Given the description of an element on the screen output the (x, y) to click on. 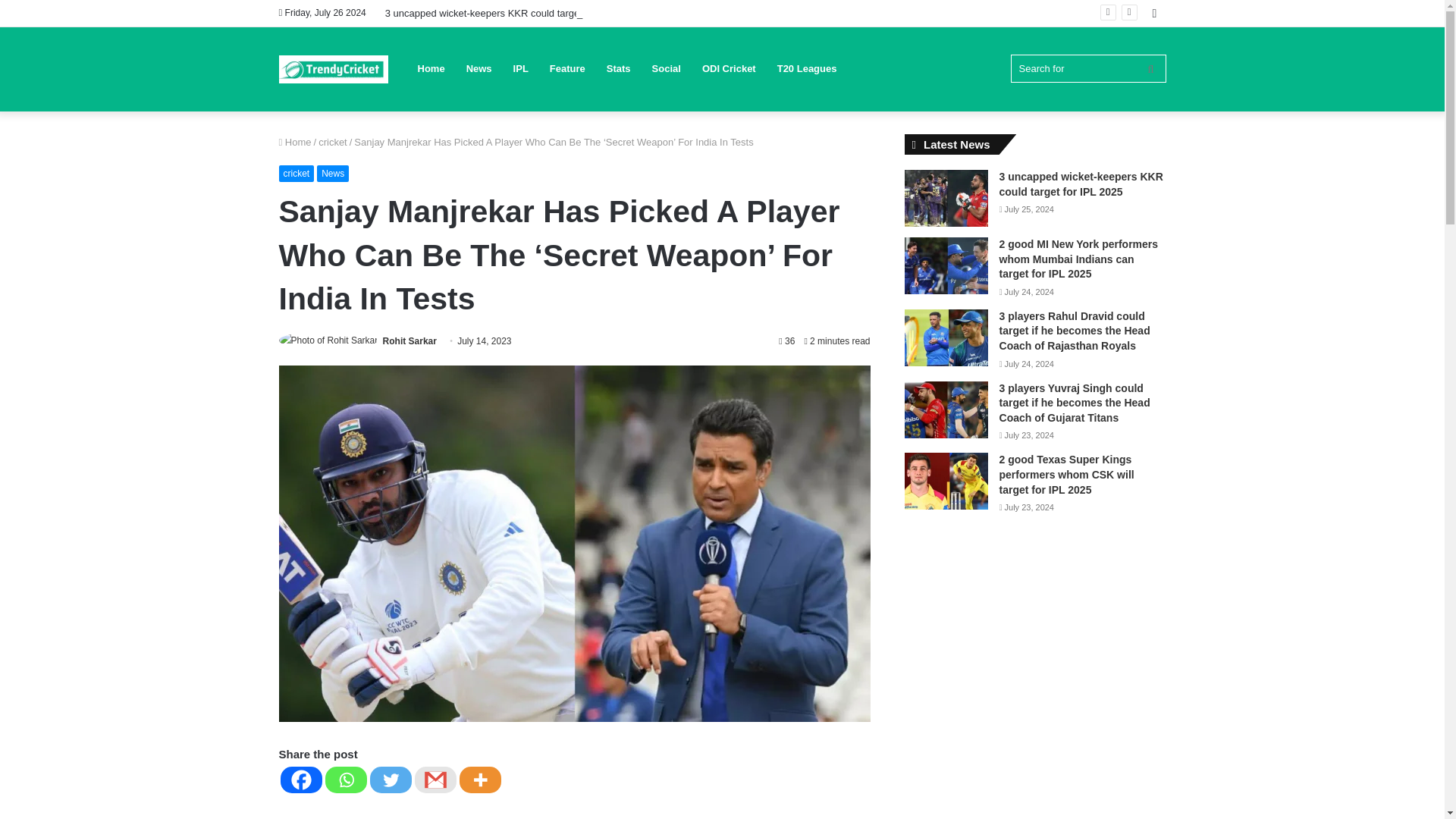
Google Gmail (434, 779)
Facebook (301, 779)
More (480, 779)
T20 Leagues (807, 68)
Rohit Sarkar (409, 340)
Rohit Sarkar (409, 340)
Search for (1088, 68)
News (333, 173)
Whatsapp (345, 779)
3 uncapped wicket-keepers KKR could target for IPL 2025 (512, 12)
Twitter (390, 779)
cricket (332, 142)
cricket (296, 173)
Home (295, 142)
